Given the description of an element on the screen output the (x, y) to click on. 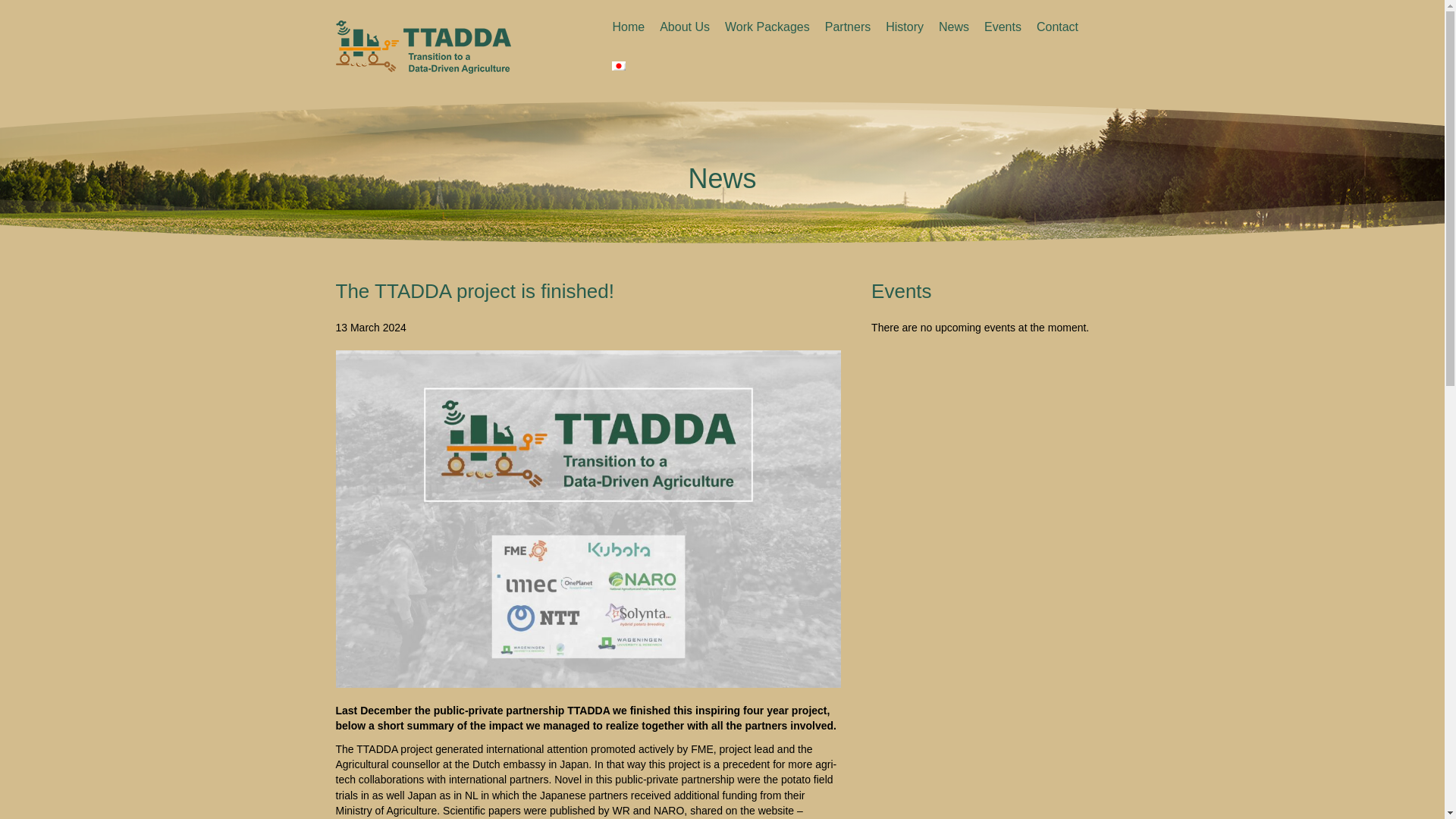
Contact (1057, 26)
Partners (846, 26)
News (953, 26)
History (904, 26)
Home (628, 26)
Events (1002, 26)
About Us (684, 26)
Work Packages (766, 26)
